Given the description of an element on the screen output the (x, y) to click on. 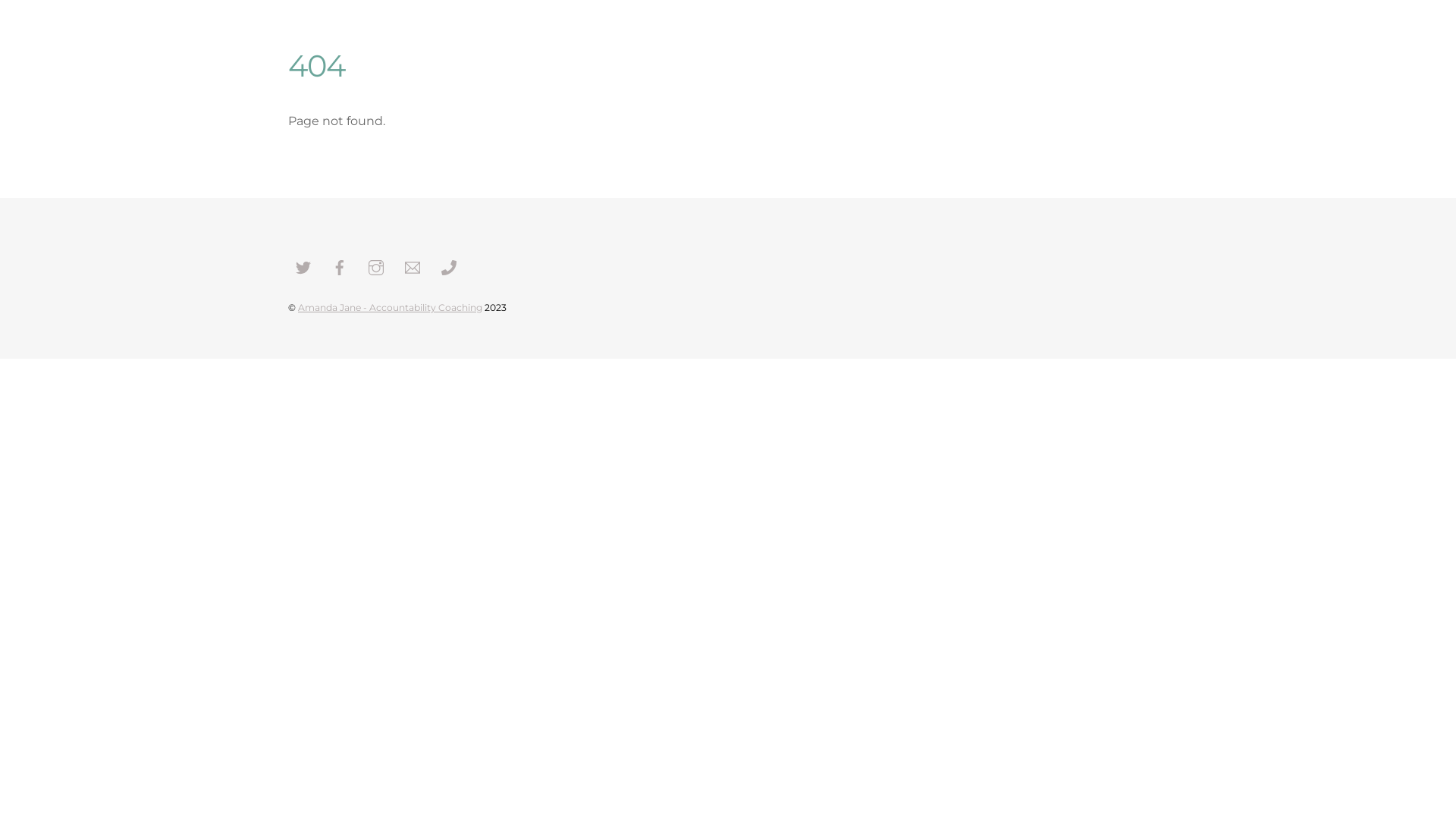
Amanda Jane - Accountability Coaching Element type: text (390, 307)
